Given the description of an element on the screen output the (x, y) to click on. 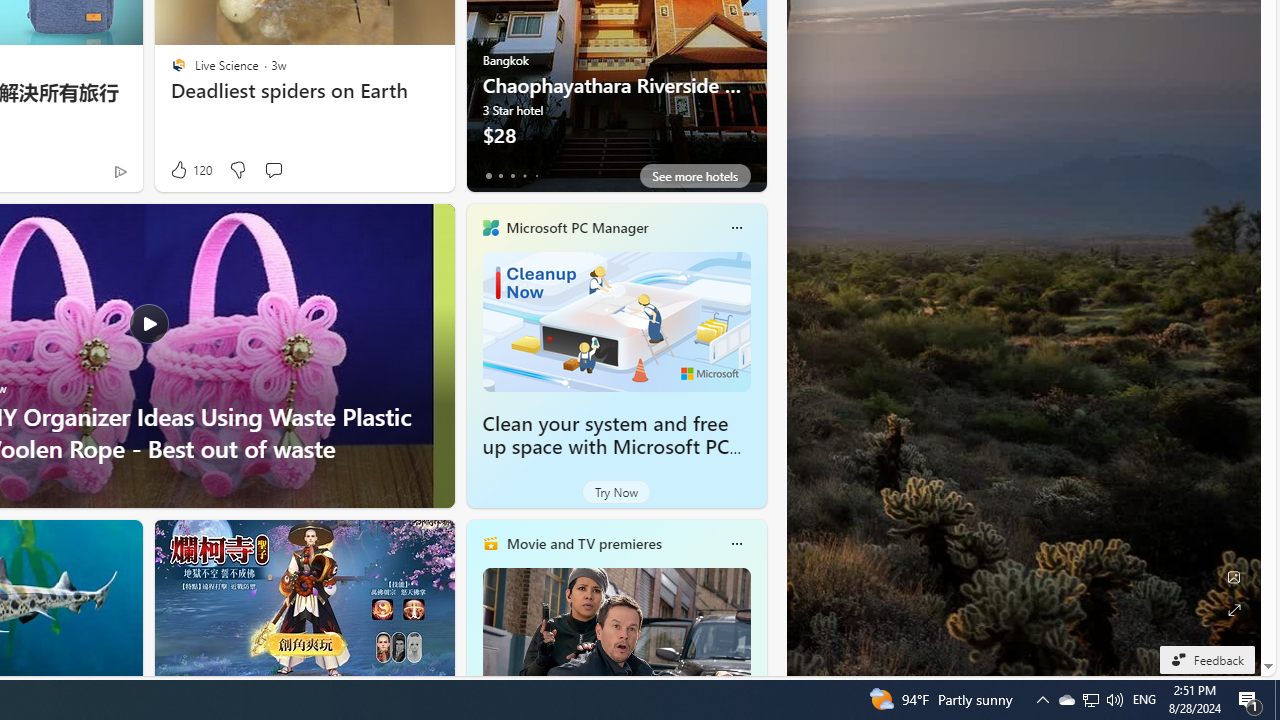
120 Like (190, 170)
Try Now (616, 491)
Edit Background (1233, 577)
tab-1 (500, 175)
See more hotels (694, 175)
